Given the description of an element on the screen output the (x, y) to click on. 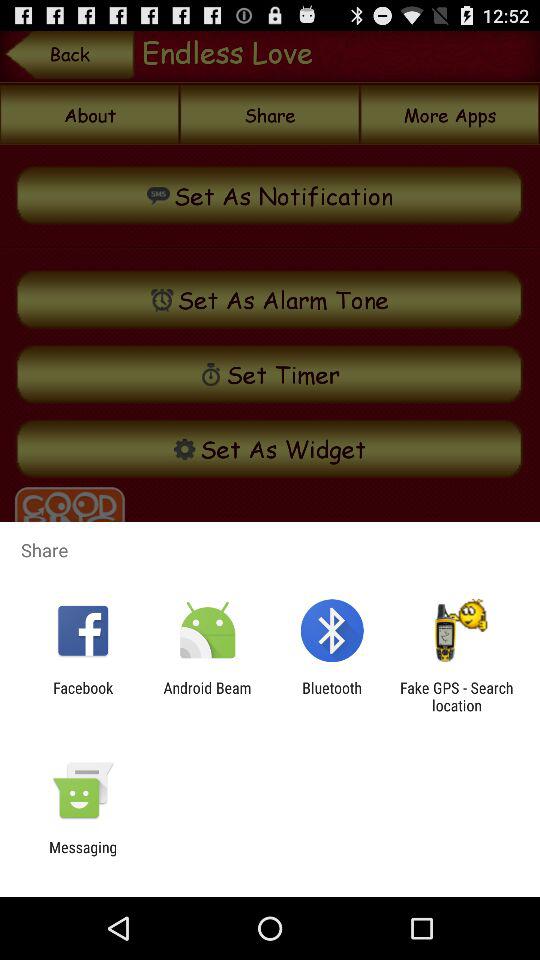
choose bluetooth item (331, 696)
